Given the description of an element on the screen output the (x, y) to click on. 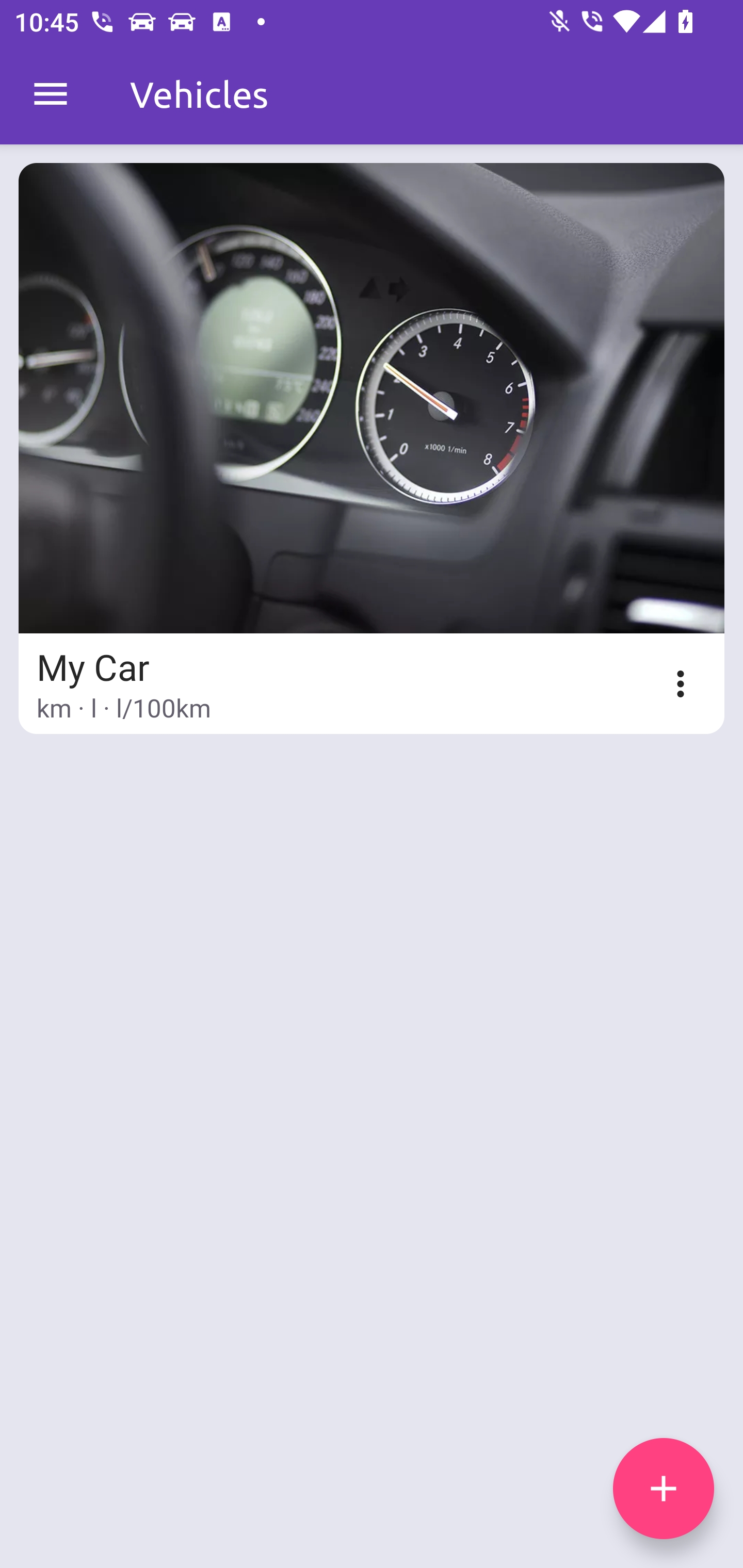
MenuDrawer (50, 93)
My Car km · l · l/100km (371, 448)
add icon (663, 1488)
